Given the description of an element on the screen output the (x, y) to click on. 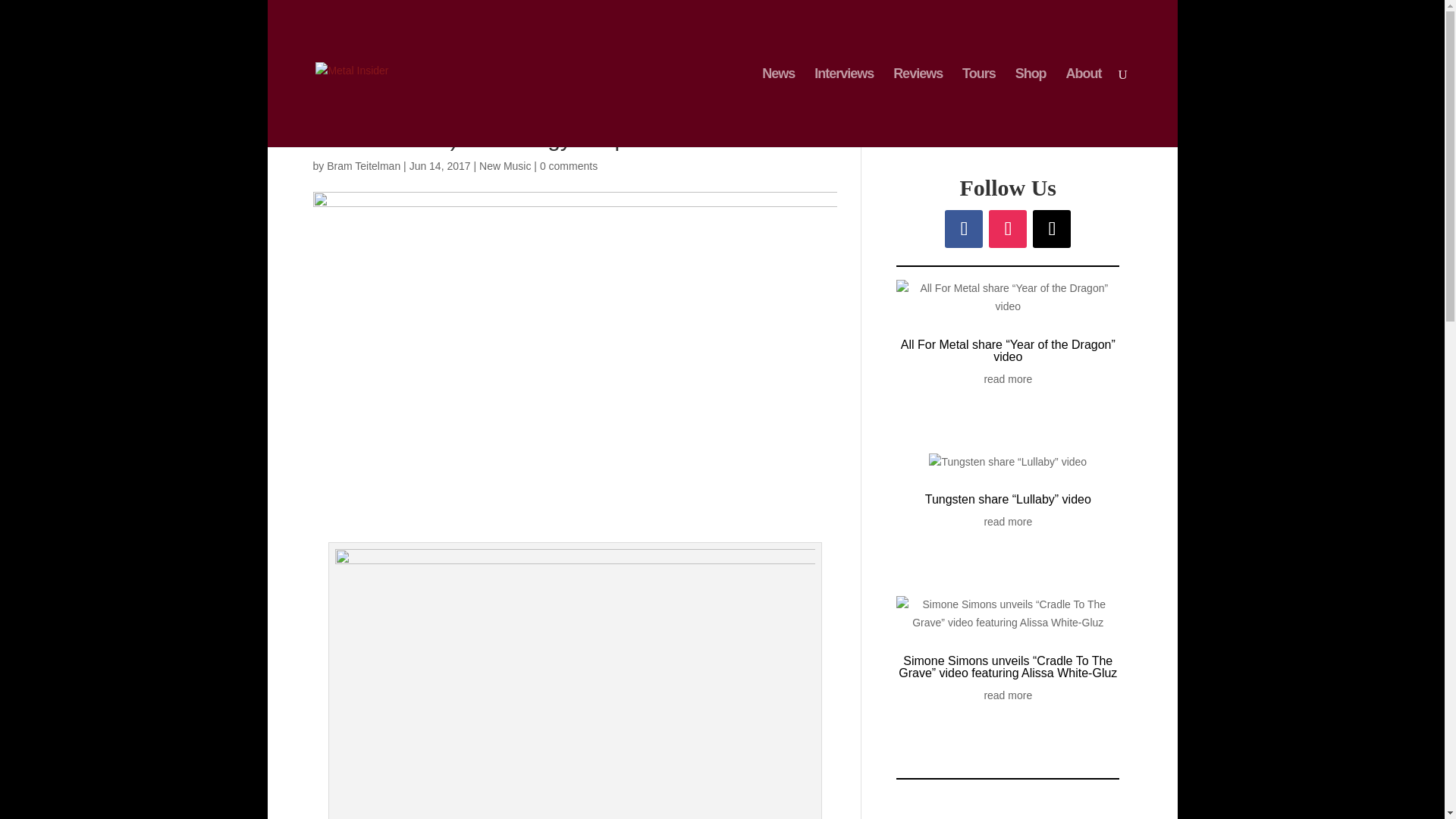
New Music (505, 165)
Posts by Bram Teitelman (363, 165)
Follow on Instagram (1007, 228)
read more (1007, 380)
0 comments (568, 165)
Follow on Facebook (963, 228)
read more (1007, 522)
Follow on X (1051, 228)
Bram Teitelman (363, 165)
read more (1007, 696)
